Given the description of an element on the screen output the (x, y) to click on. 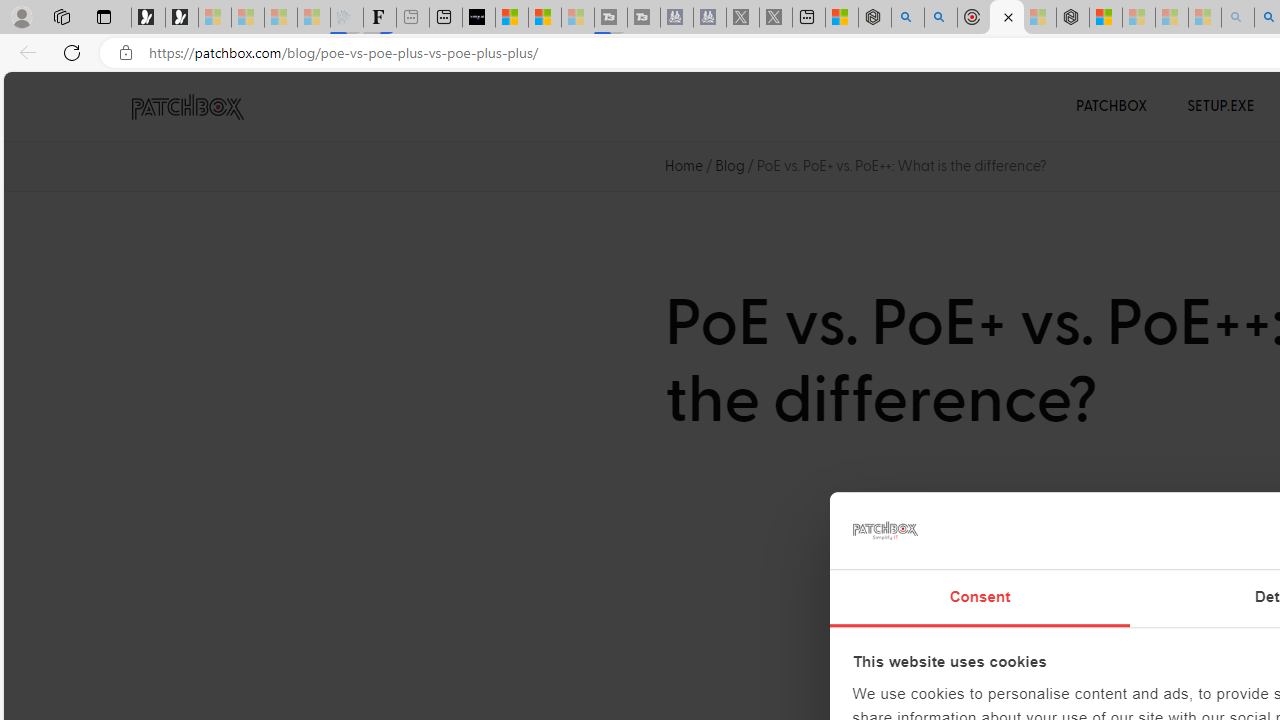
Home (684, 165)
logo (884, 530)
amazon - Search - Sleeping (1238, 17)
poe - Search (908, 17)
Nordace - Nordace Siena Is Not An Ordinary Backpack (1073, 17)
